Given the description of an element on the screen output the (x, y) to click on. 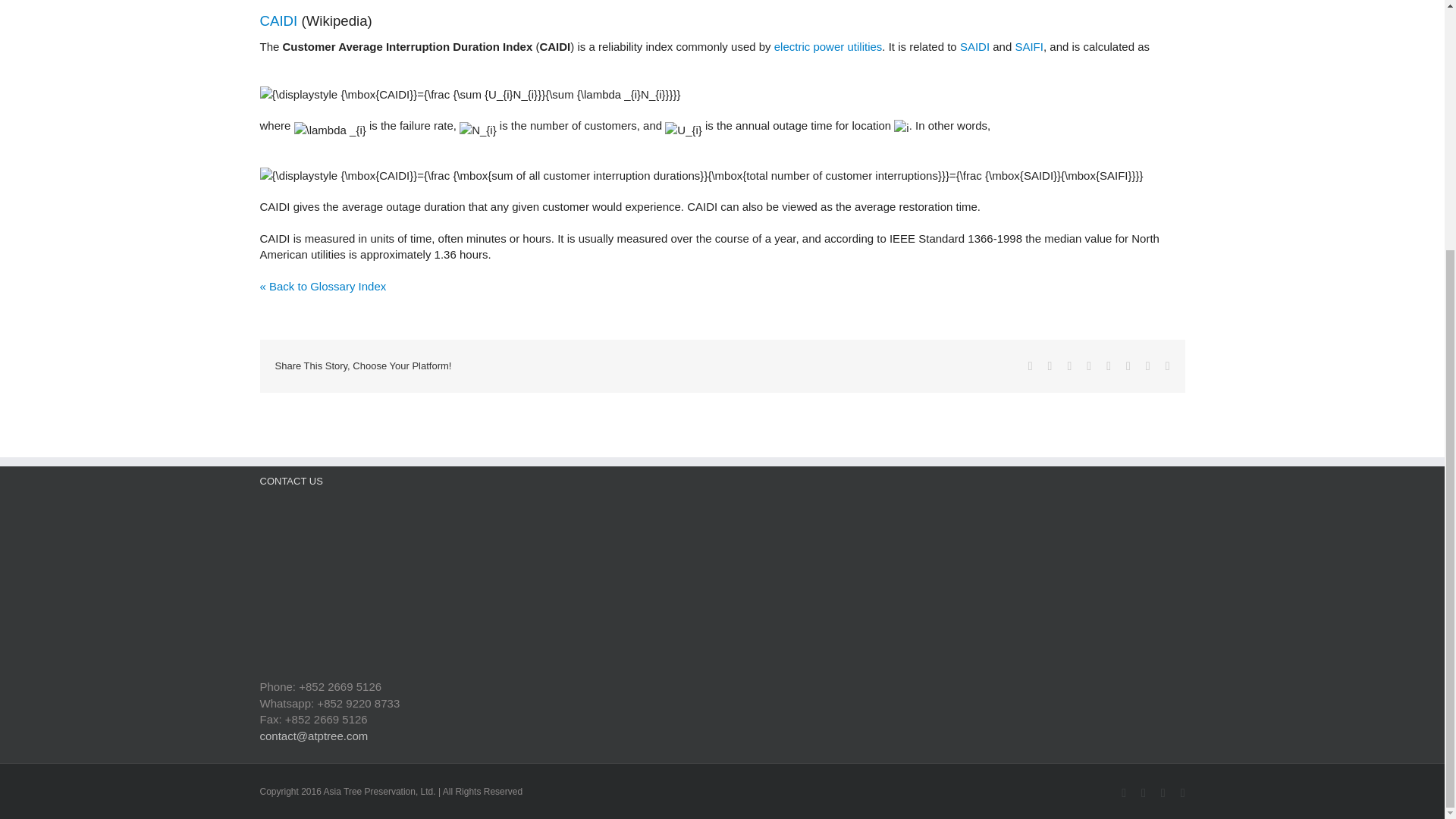
SAIFI (1028, 46)
Utilities (864, 46)
SAIDI (974, 46)
Electric power (809, 46)
